Given the description of an element on the screen output the (x, y) to click on. 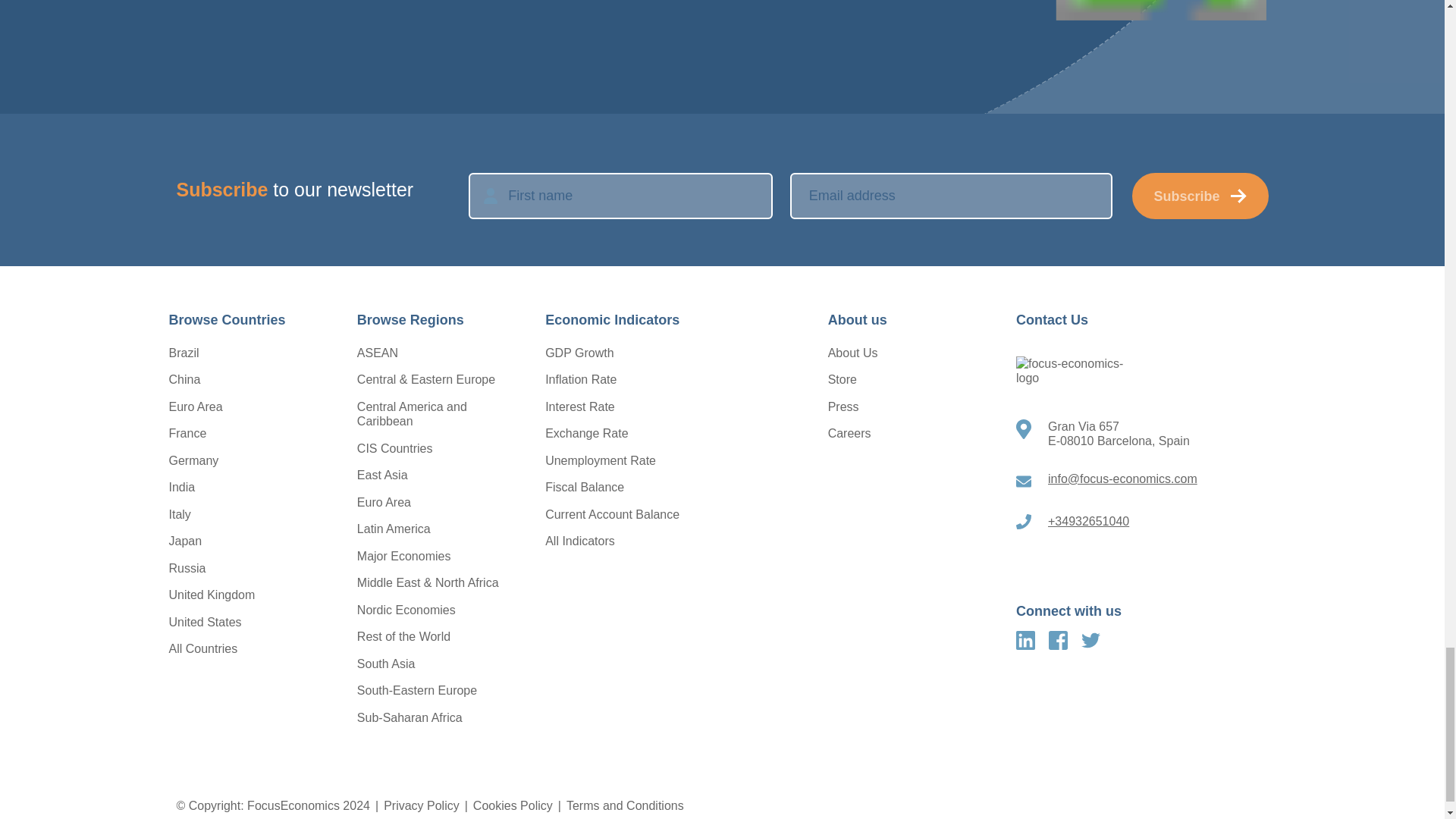
Subscribe (1200, 195)
